Given the description of an element on the screen output the (x, y) to click on. 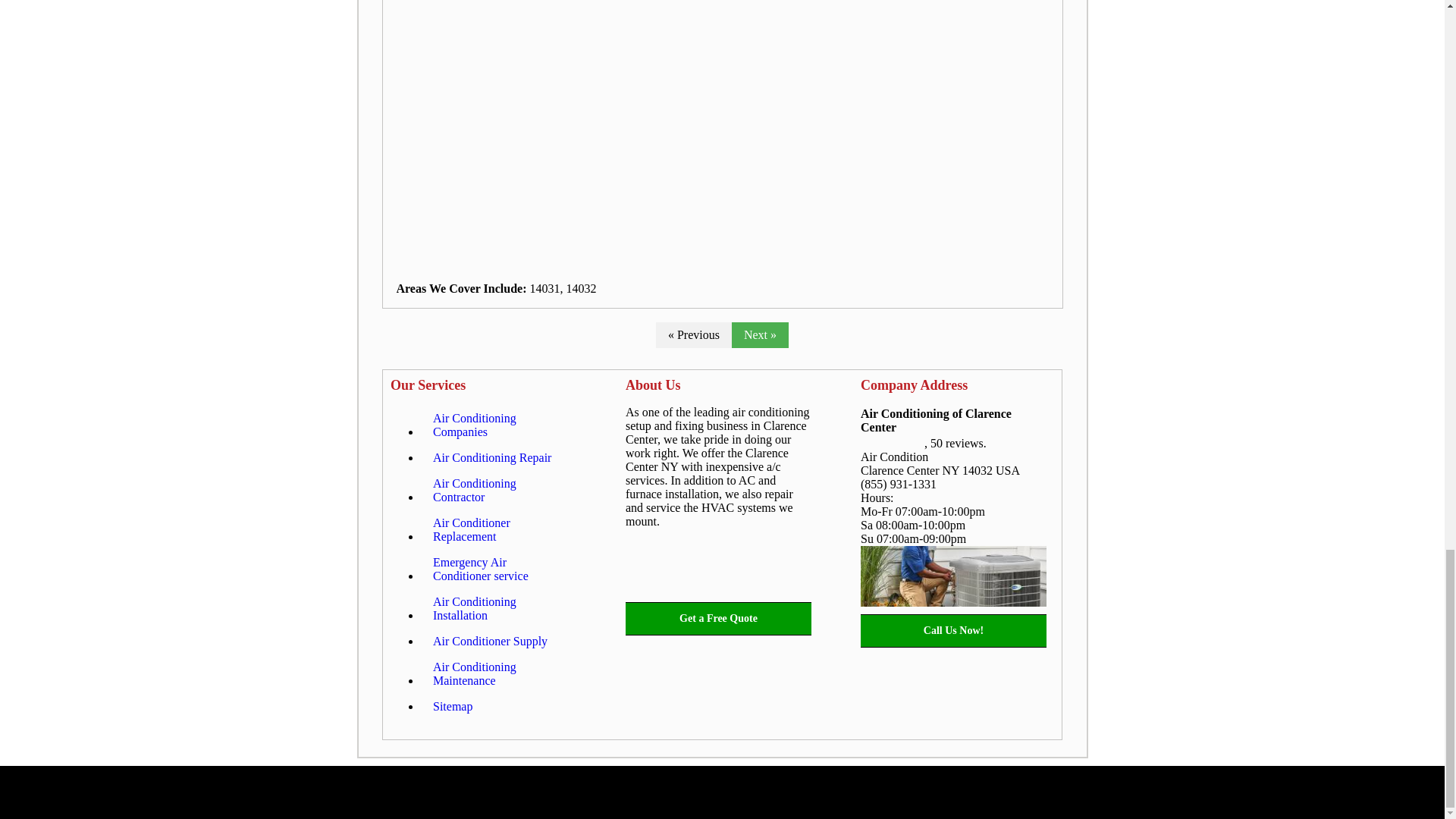
Air Conditioning Contractor (498, 490)
Sitemap (452, 706)
Air Conditioner Replacement (498, 529)
Emergency Air Conditioner service (498, 568)
Get a Free Quote (718, 618)
Air Conditioning Companies (498, 425)
Air Conditioning Repair (491, 457)
Call Us Now! (953, 630)
Air Conditioning Maintenance (498, 673)
Air Conditioner Supply (489, 641)
